Given the description of an element on the screen output the (x, y) to click on. 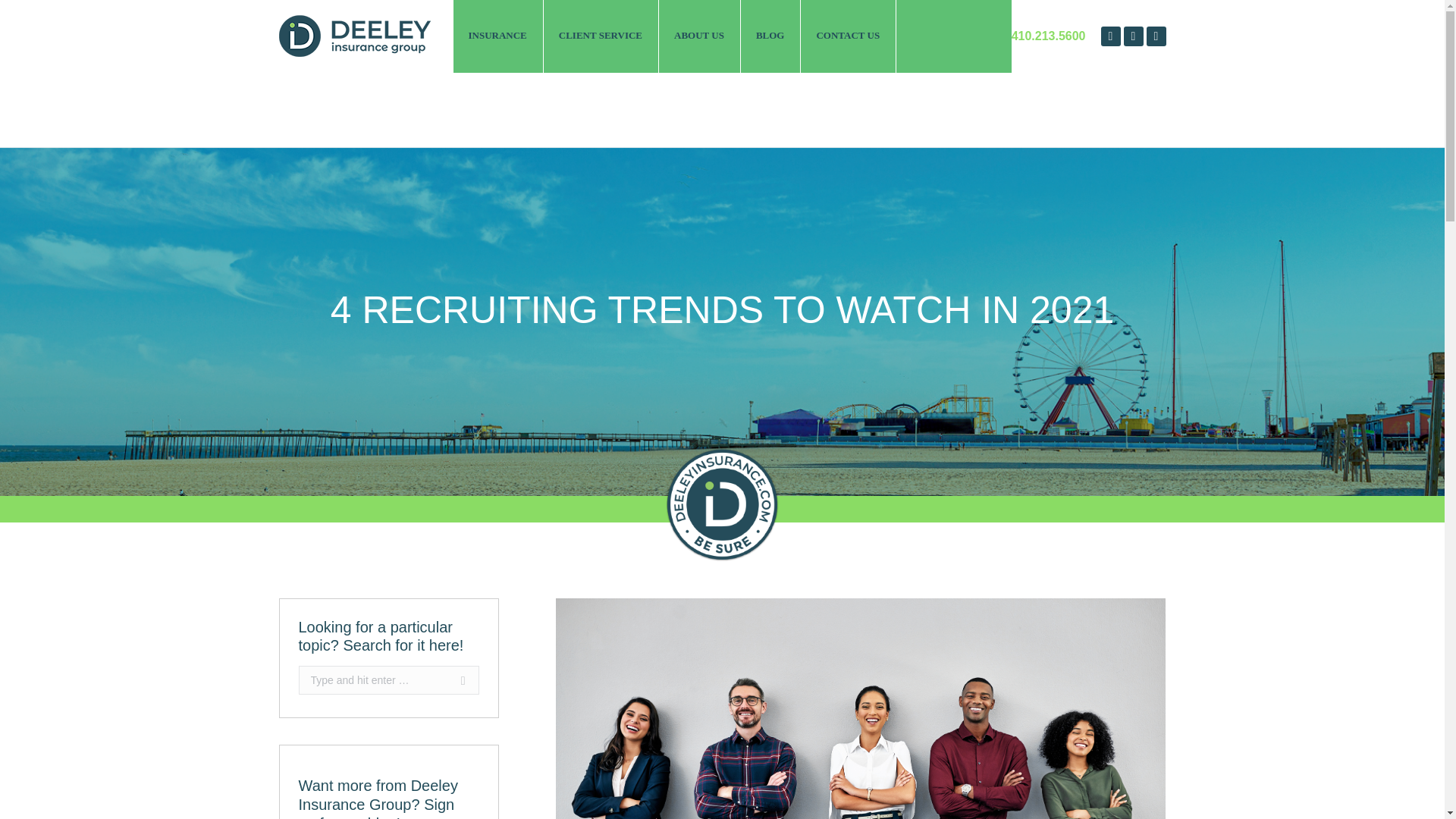
Instagram page opens in new window (1156, 35)
Linkedin page opens in new window (1133, 35)
INSURANCE (497, 36)
Facebook page opens in new window (1110, 35)
Go! (455, 679)
Go! (455, 679)
CLIENT SERVICE (601, 36)
ABOUT US (700, 36)
